Given the description of an element on the screen output the (x, y) to click on. 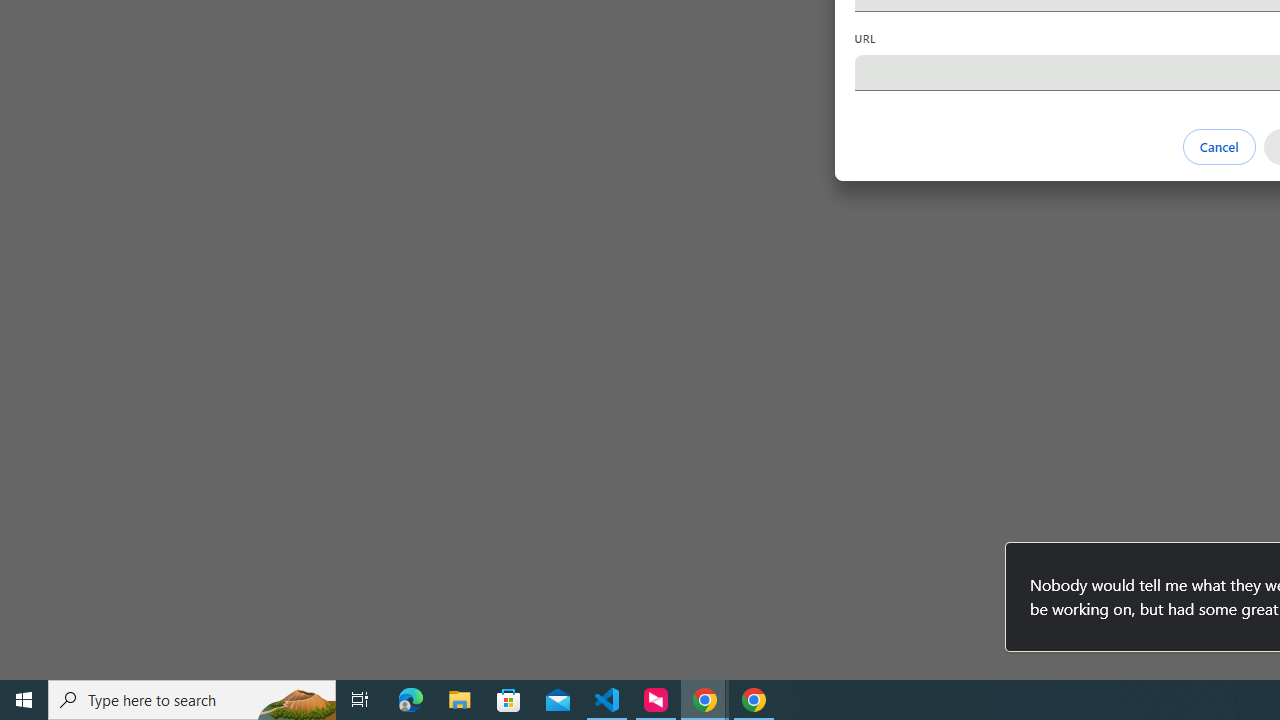
Cancel (1218, 146)
